Given the description of an element on the screen output the (x, y) to click on. 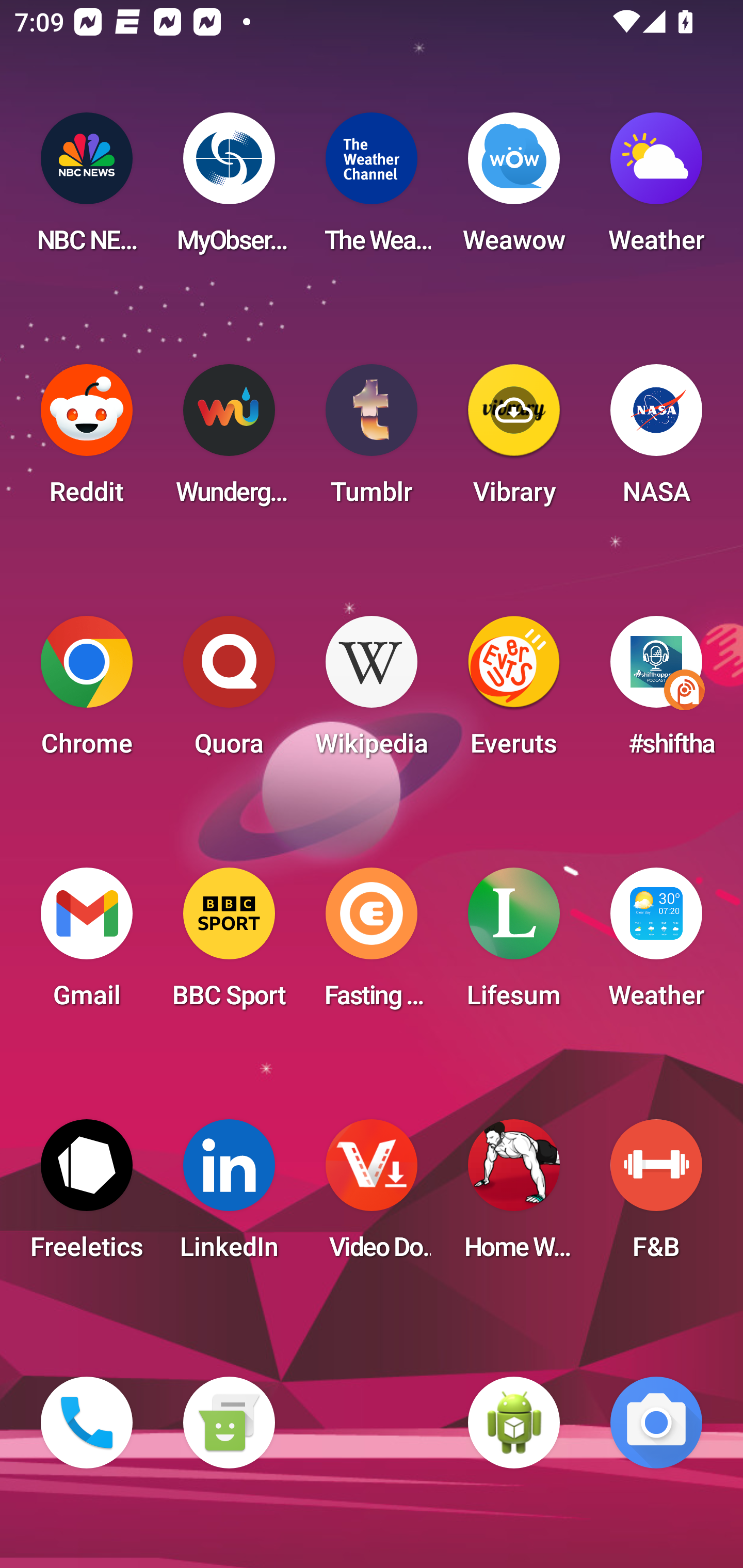
NBC NEWS (86, 188)
MyObservatory (228, 188)
The Weather Channel (371, 188)
Weawow (513, 188)
Weather (656, 188)
Reddit (86, 440)
Wunderground (228, 440)
Tumblr (371, 440)
Vibrary (513, 440)
NASA (656, 440)
Chrome (86, 692)
Quora (228, 692)
Wikipedia (371, 692)
Everuts (513, 692)
#shifthappens in the Digital Workplace Podcast (656, 692)
Gmail (86, 943)
BBC Sport (228, 943)
Fasting Coach (371, 943)
Lifesum (513, 943)
Weather (656, 943)
Freeletics (86, 1195)
LinkedIn (228, 1195)
Video Downloader & Ace Player (371, 1195)
Home Workout (513, 1195)
F&B (656, 1195)
Phone (86, 1422)
Messaging (228, 1422)
WebView Browser Tester (513, 1422)
Camera (656, 1422)
